Given the description of an element on the screen output the (x, y) to click on. 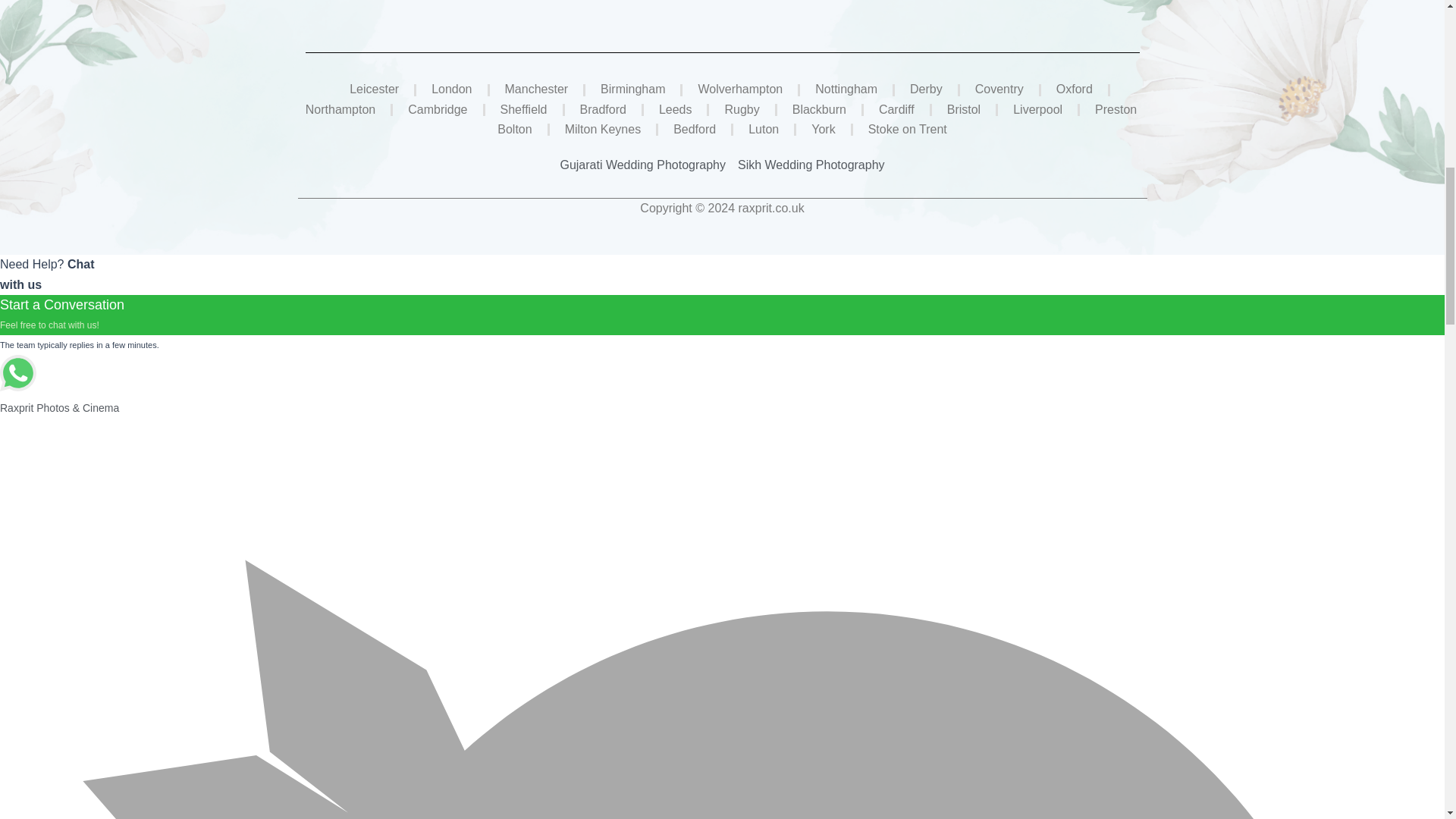
Derby (926, 89)
Nottingham (846, 89)
Wolverhampton (740, 89)
Contact Us (673, 1)
Birmingham (632, 89)
Manchester (537, 89)
London (450, 89)
Leicester (373, 89)
